Given the description of an element on the screen output the (x, y) to click on. 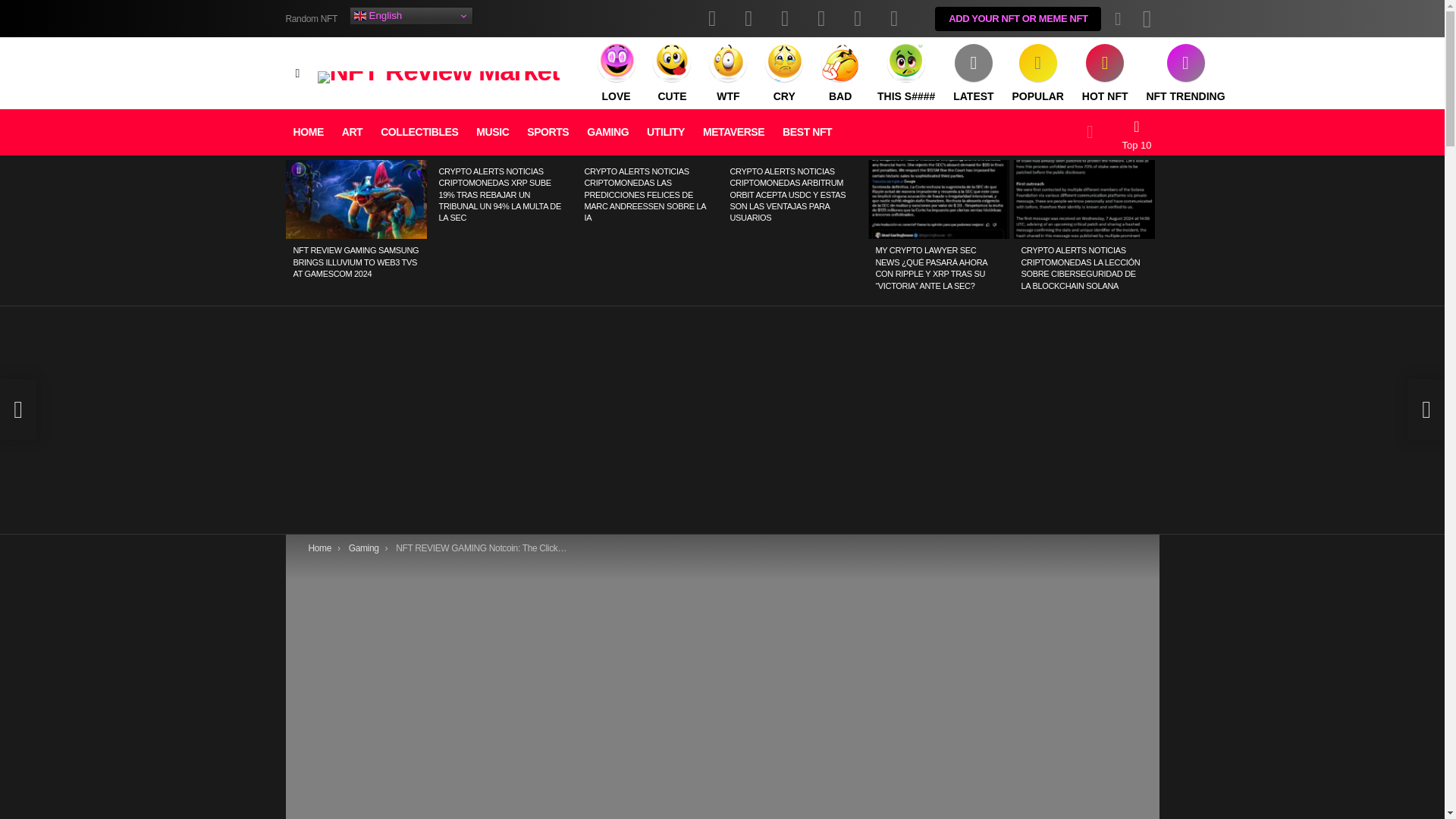
COLLECTIBLES (418, 131)
LATEST (972, 73)
SPORTS (547, 131)
WTF (727, 73)
CUTE (671, 73)
MUSIC (492, 131)
English (411, 15)
facebook (712, 18)
LOVE (616, 73)
